Given the description of an element on the screen output the (x, y) to click on. 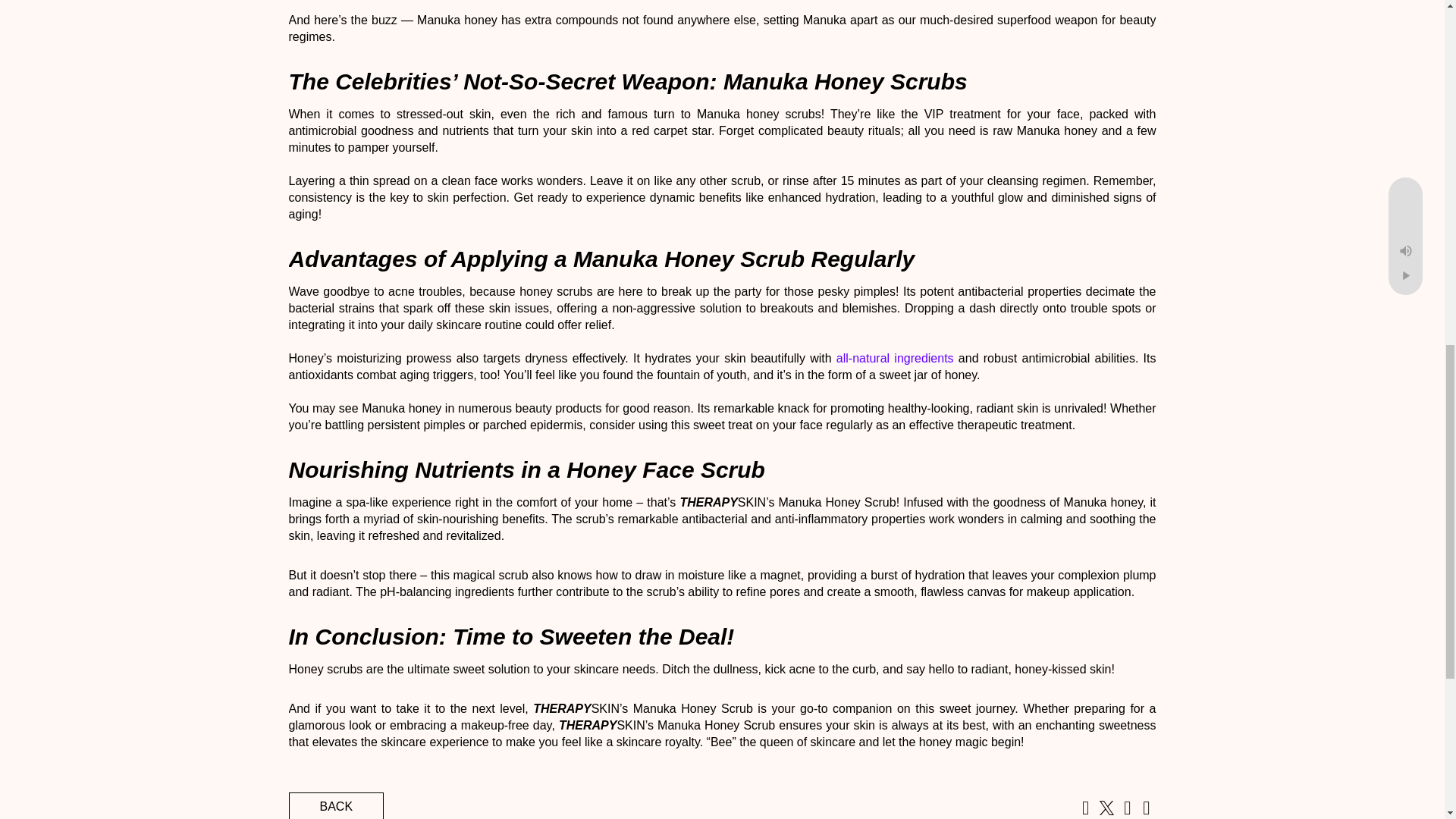
Share on Facebook (1084, 809)
Share on Twitter (1106, 809)
Share on LinkedIn (1127, 809)
all-natural ingredients (894, 358)
Share on Pinterest (1146, 809)
BACK (336, 805)
